Given the description of an element on the screen output the (x, y) to click on. 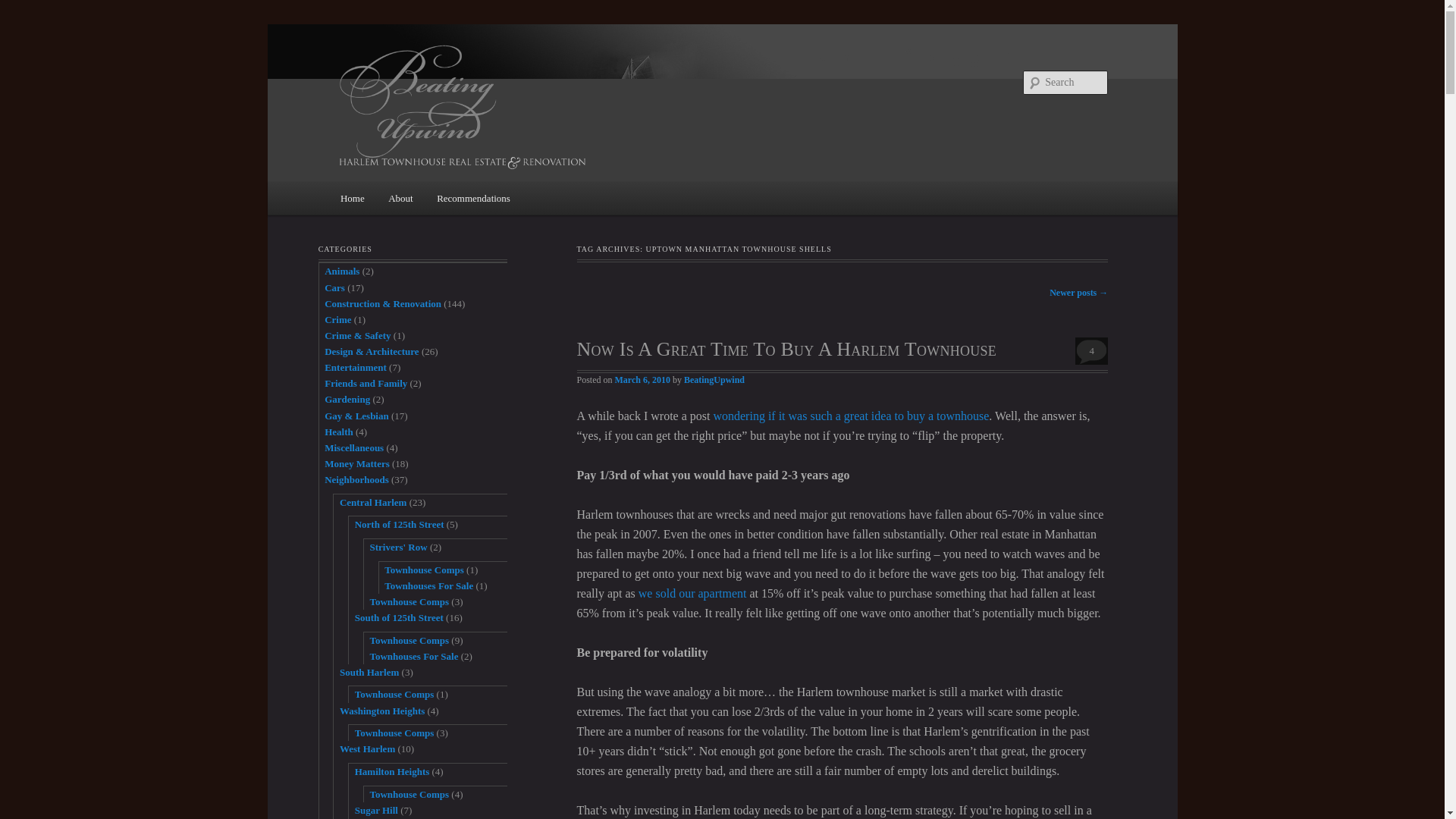
About (400, 197)
Beating Upwind (620, 105)
we sold our apartment (692, 593)
View all posts by BeatingUpwind (714, 379)
BeatingUpwind (714, 379)
Search (22, 9)
Now Is A Great Time To Buy A Harlem Townhouse (785, 349)
March 6, 2010 (641, 379)
4 (1091, 350)
Recommendations (473, 197)
5:10 pm (641, 379)
wondering if it was such a great idea to buy a townhouse (850, 415)
Home (352, 197)
